Given the description of an element on the screen output the (x, y) to click on. 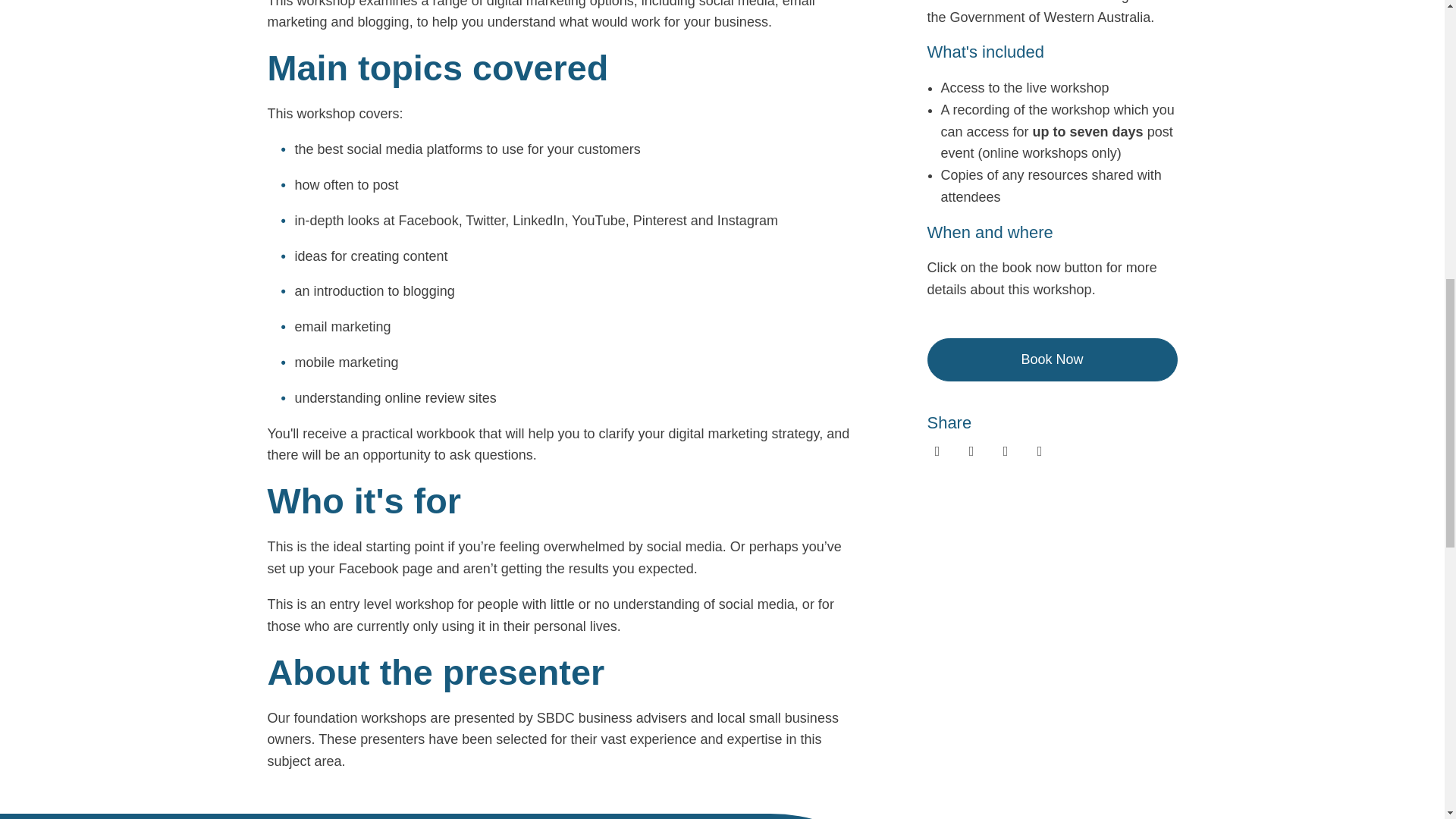
Share this page on linkedin. (970, 450)
Share this page on twitter. (1004, 450)
Email a link to this page. (1039, 450)
Share this page on facebook. (936, 450)
